Given the description of an element on the screen output the (x, y) to click on. 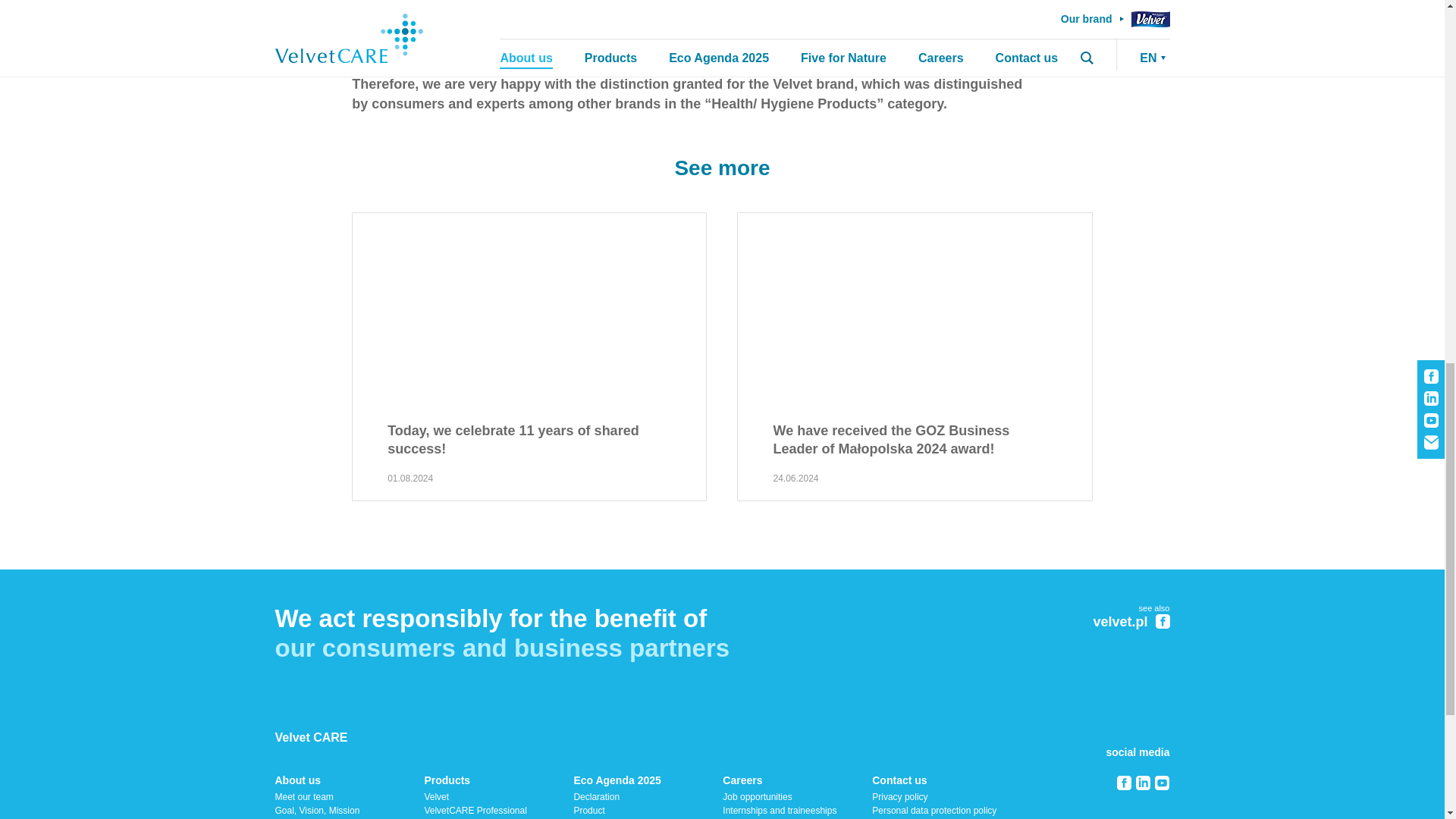
Linkedin (1142, 782)
Youtube (1161, 782)
Facebook (1123, 782)
Facebook Velvet (1163, 621)
